Given the description of an element on the screen output the (x, y) to click on. 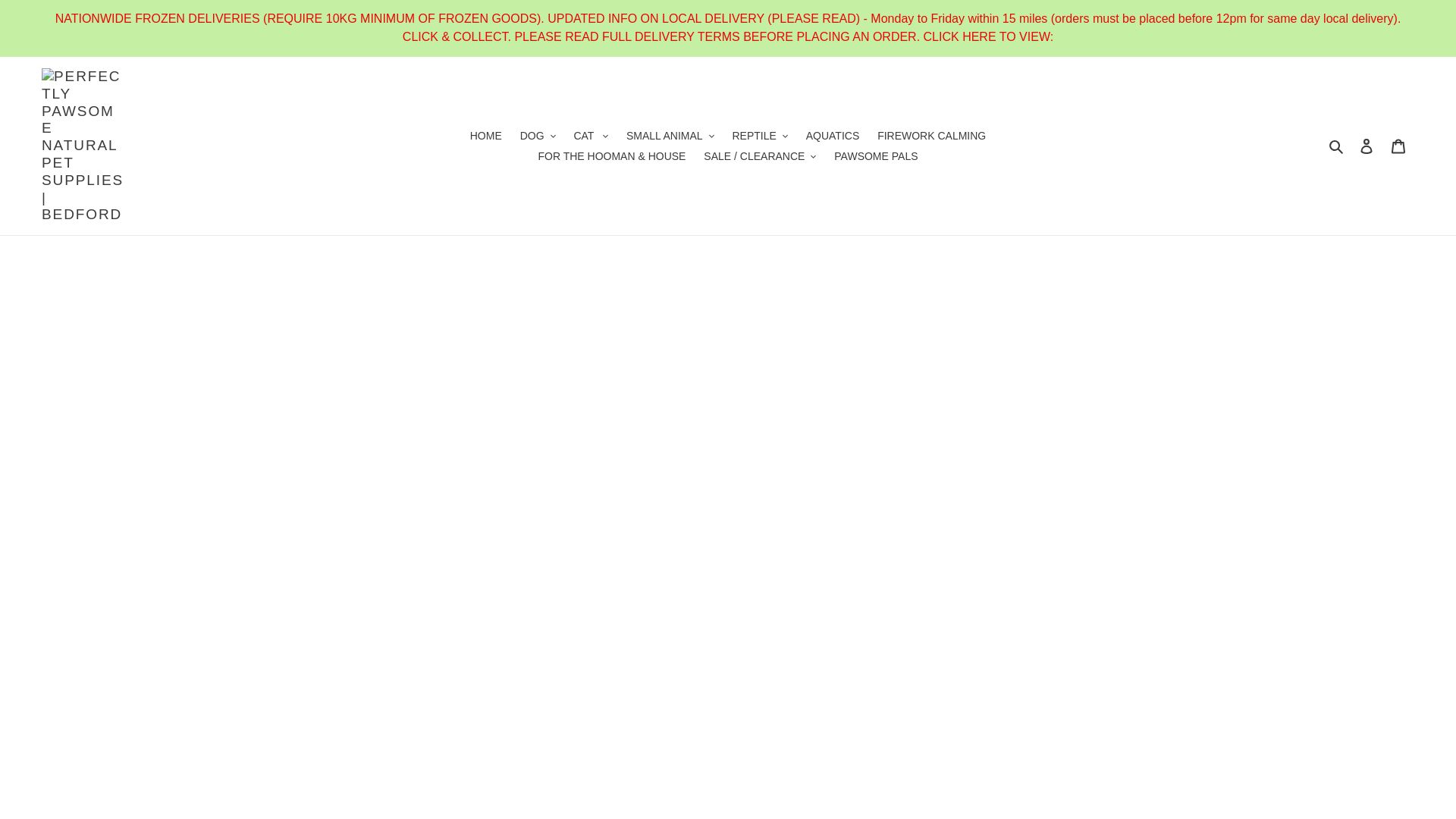
DOG (537, 136)
HOME (486, 136)
